Given the description of an element on the screen output the (x, y) to click on. 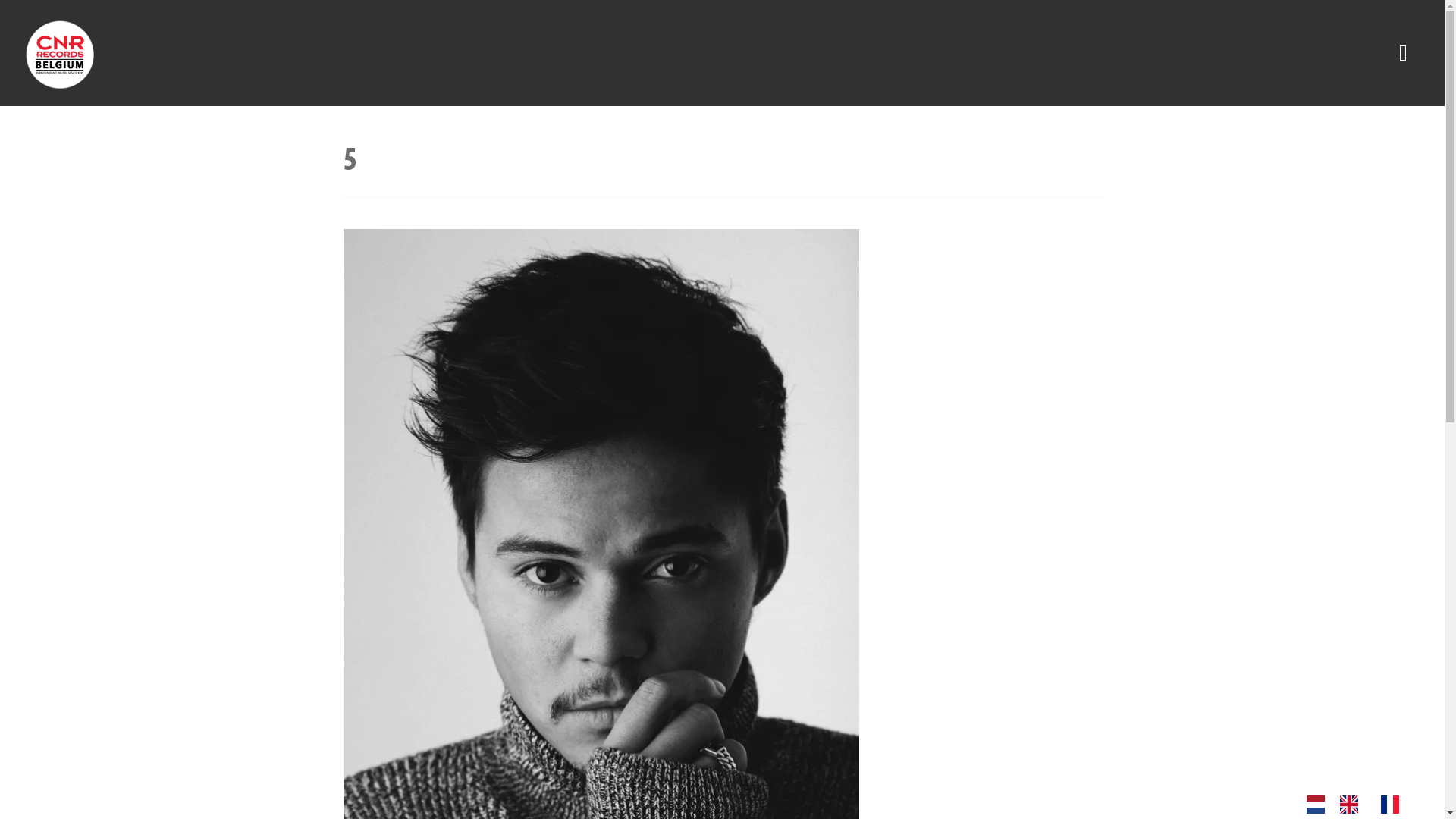
Language switcher : French Element type: hover (1393, 803)
Language switcher : English Element type: hover (1352, 803)
